Given the description of an element on the screen output the (x, y) to click on. 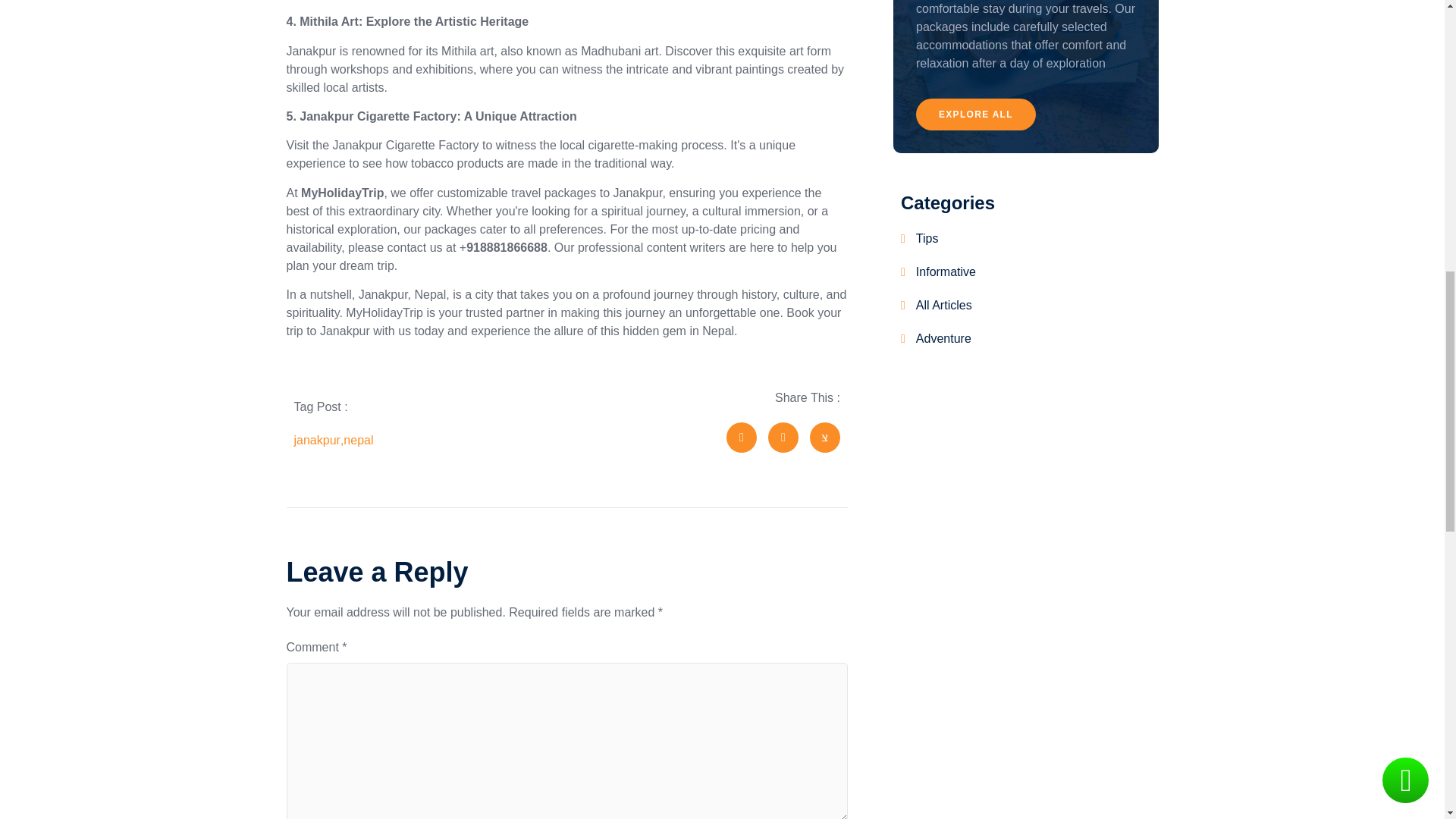
Adventure (936, 339)
EXPLORE ALL (975, 114)
All Articles (936, 305)
Tips (919, 239)
Informative (938, 271)
